Given the description of an element on the screen output the (x, y) to click on. 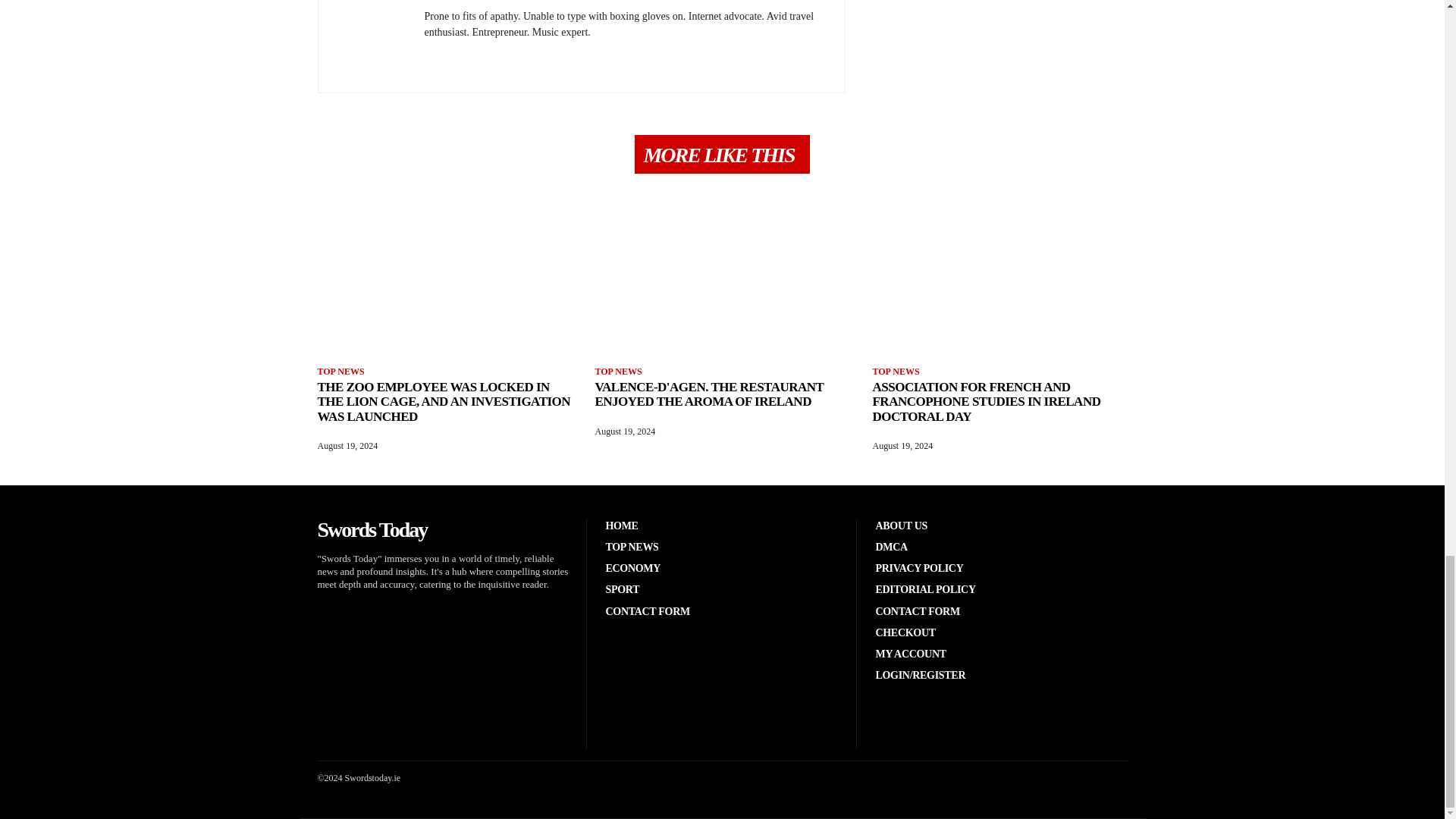
Jake Pearson (460, 1)
